Given the description of an element on the screen output the (x, y) to click on. 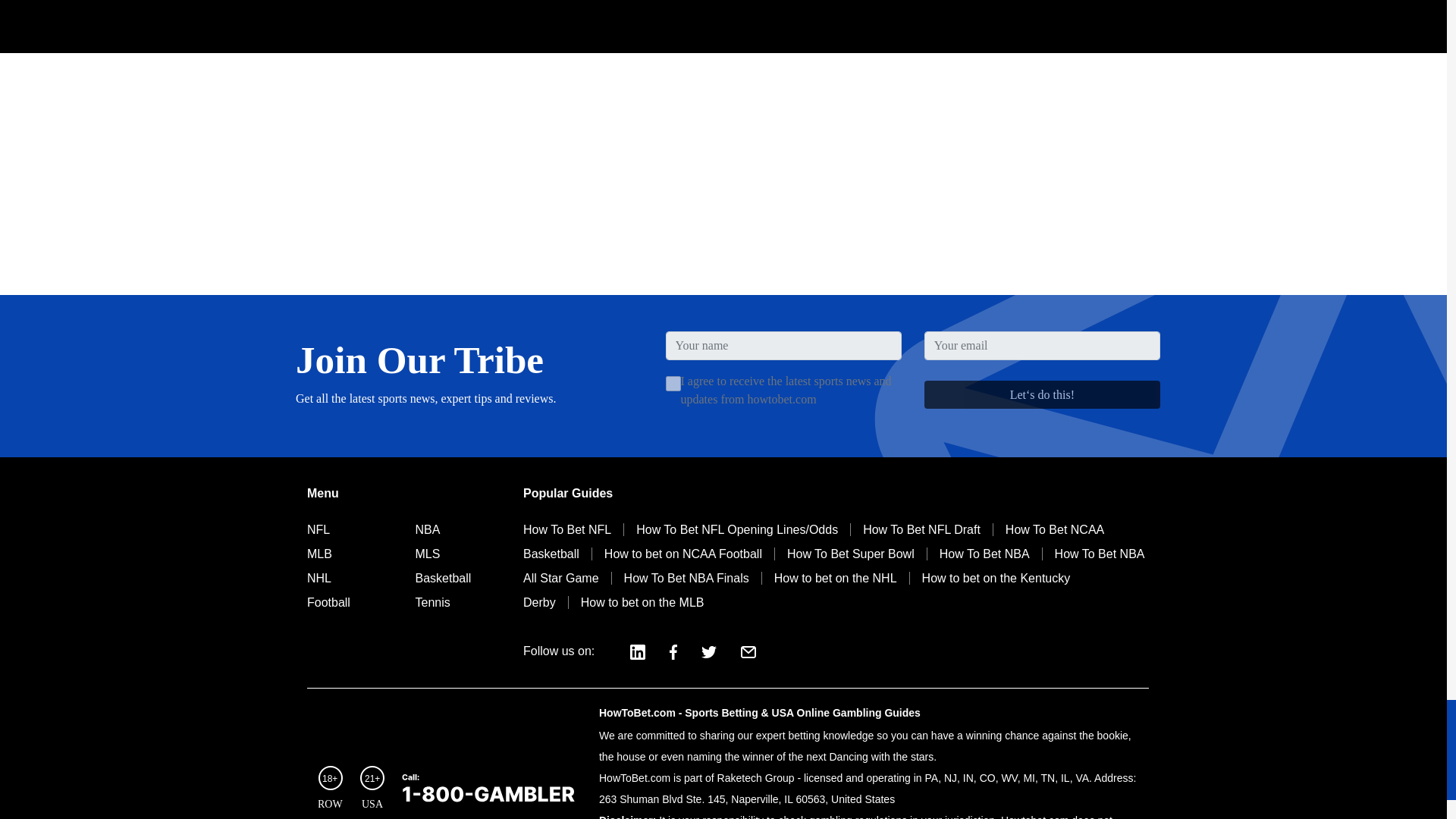
How To Bet NBA (984, 553)
How to bet on NCAA Football (682, 553)
Basketball (442, 577)
Tennis (431, 602)
How To Bet NFL (572, 529)
How To Bet Super Bowl (850, 553)
How To Bet NFL Draft (921, 529)
How To Bet NBA Finals (686, 577)
MLS (427, 553)
Football (328, 602)
on (673, 383)
How to bet on the Kentucky Derby (796, 590)
How To Bet NBA All Star Game (833, 565)
How to bet on the NHL (834, 577)
How To Bet NCAA Basketball (812, 541)
